Given the description of an element on the screen output the (x, y) to click on. 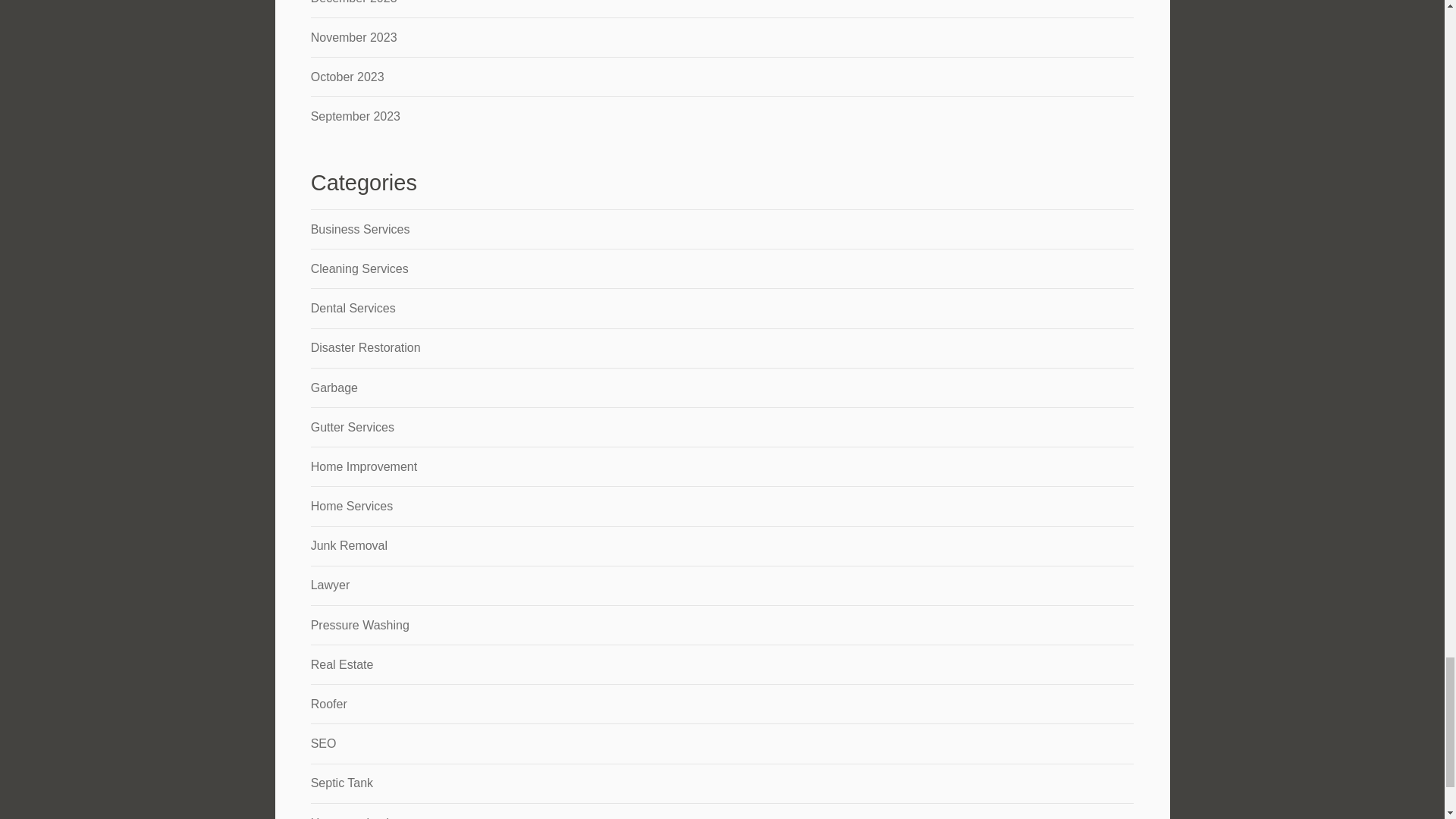
September 2023 (355, 115)
Home Improvement (364, 466)
Junk Removal (349, 545)
Pressure Washing (360, 625)
Gutter Services (352, 427)
Business Services (360, 228)
December 2023 (354, 2)
October 2023 (347, 76)
Lawyer (330, 584)
Home Services (352, 505)
